Given the description of an element on the screen output the (x, y) to click on. 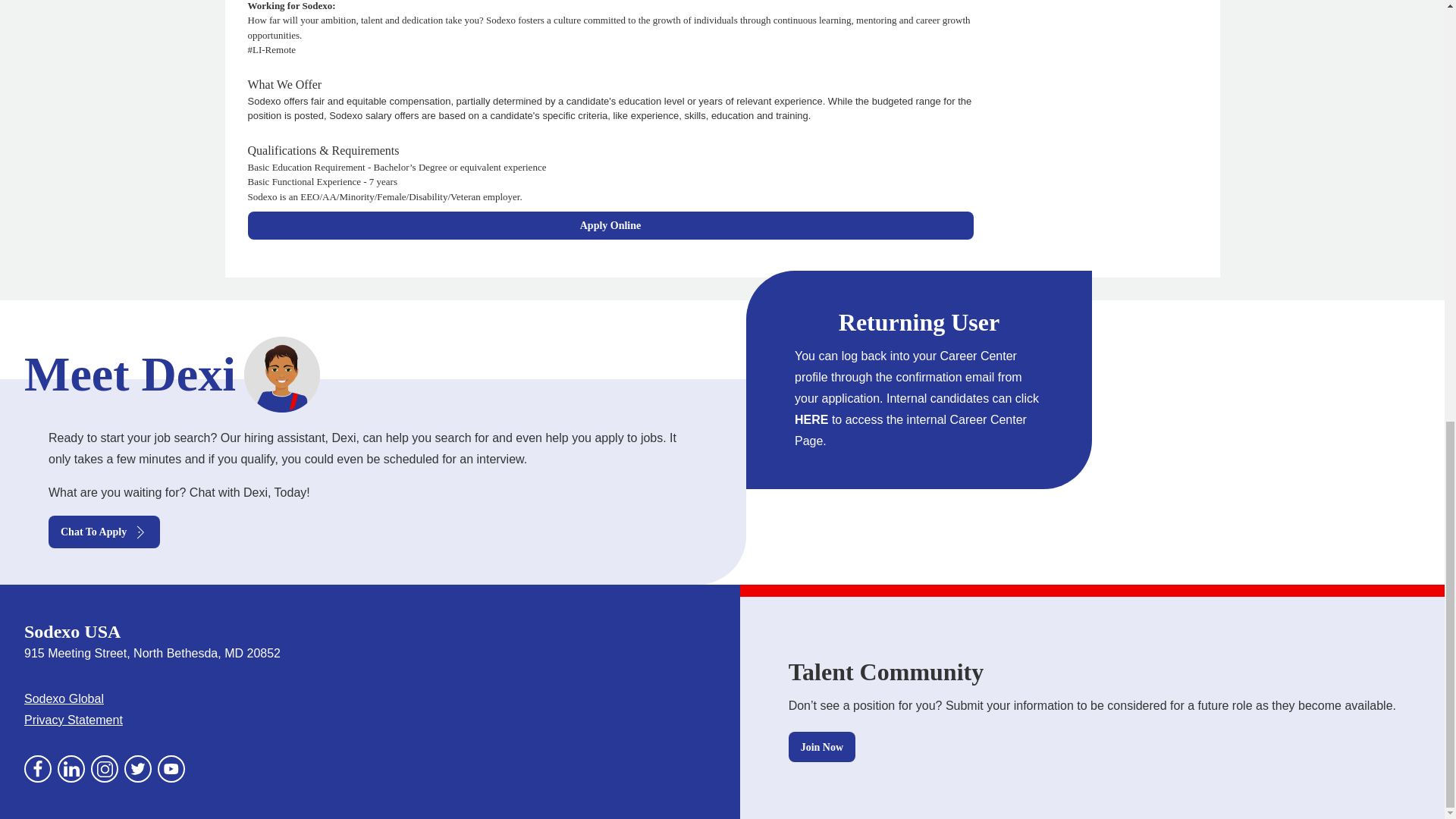
Apply Online (609, 225)
Join Now (822, 747)
HERE (811, 419)
Sodexo USA (72, 631)
Sodexo Global (63, 698)
Privacy Statement (73, 719)
